Given the description of an element on the screen output the (x, y) to click on. 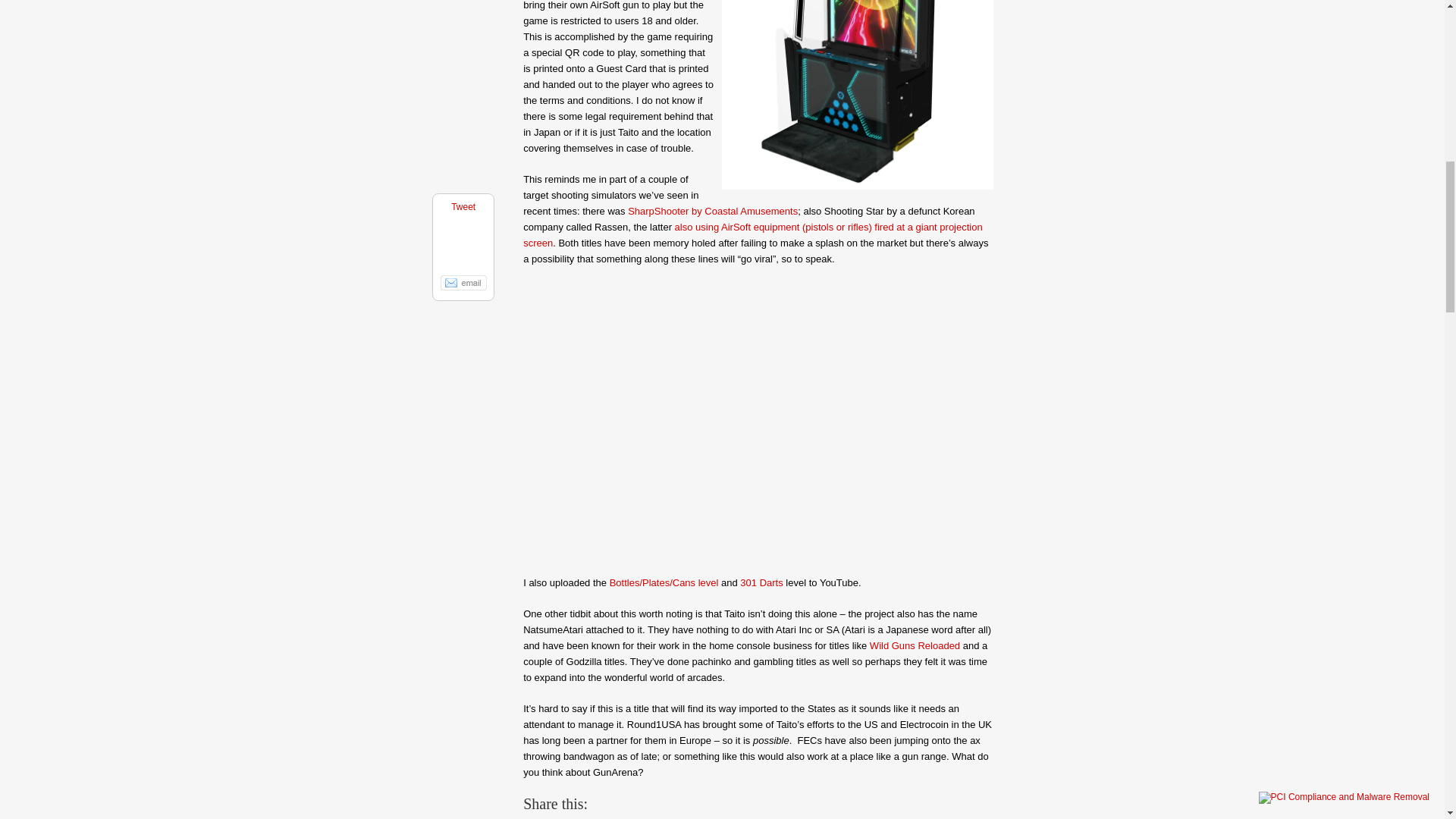
SharpShooter by Coastal Amusements (712, 211)
301 Darts (761, 582)
Wild Guns Reloaded (914, 645)
